Given the description of an element on the screen output the (x, y) to click on. 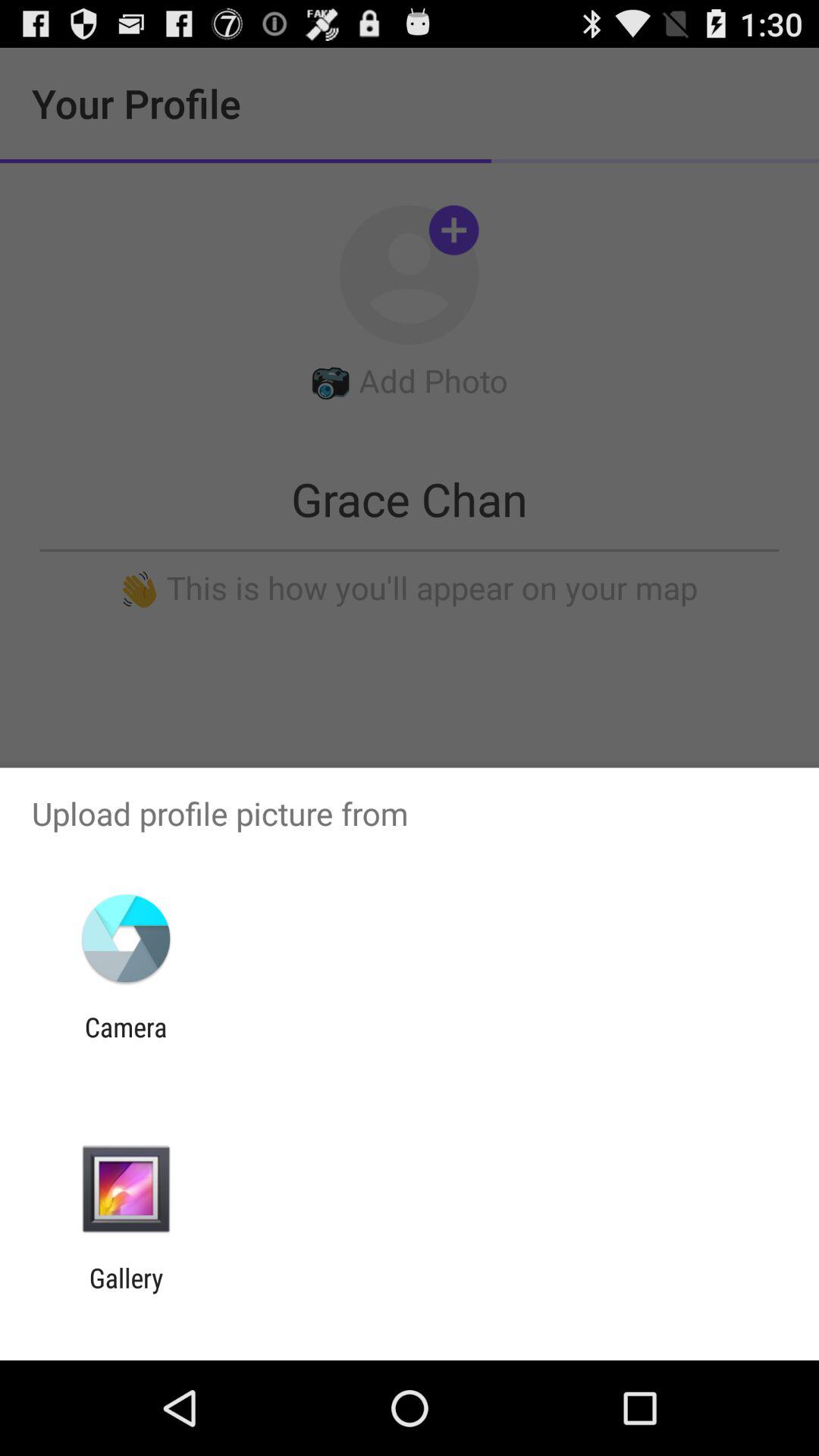
select gallery icon (126, 1293)
